Given the description of an element on the screen output the (x, y) to click on. 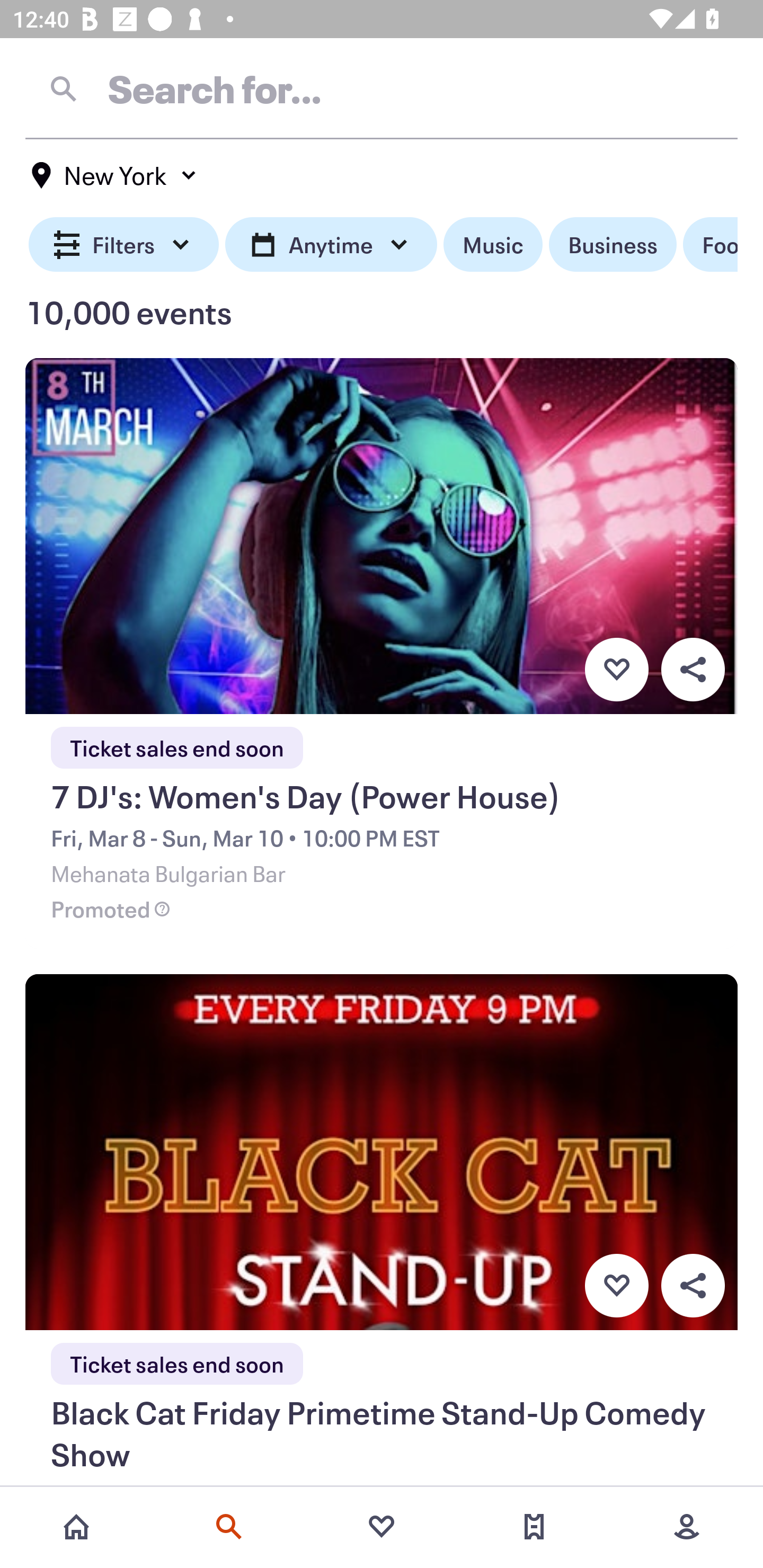
Search for… (381, 88)
New York (114, 175)
Filters (123, 244)
Anytime (331, 244)
Music (492, 244)
Business (612, 244)
Favorite button (616, 669)
Overflow menu button (692, 669)
Favorite button (616, 1285)
Overflow menu button (692, 1285)
Home (76, 1526)
Search events (228, 1526)
Favorites (381, 1526)
Tickets (533, 1526)
More (686, 1526)
